Given the description of an element on the screen output the (x, y) to click on. 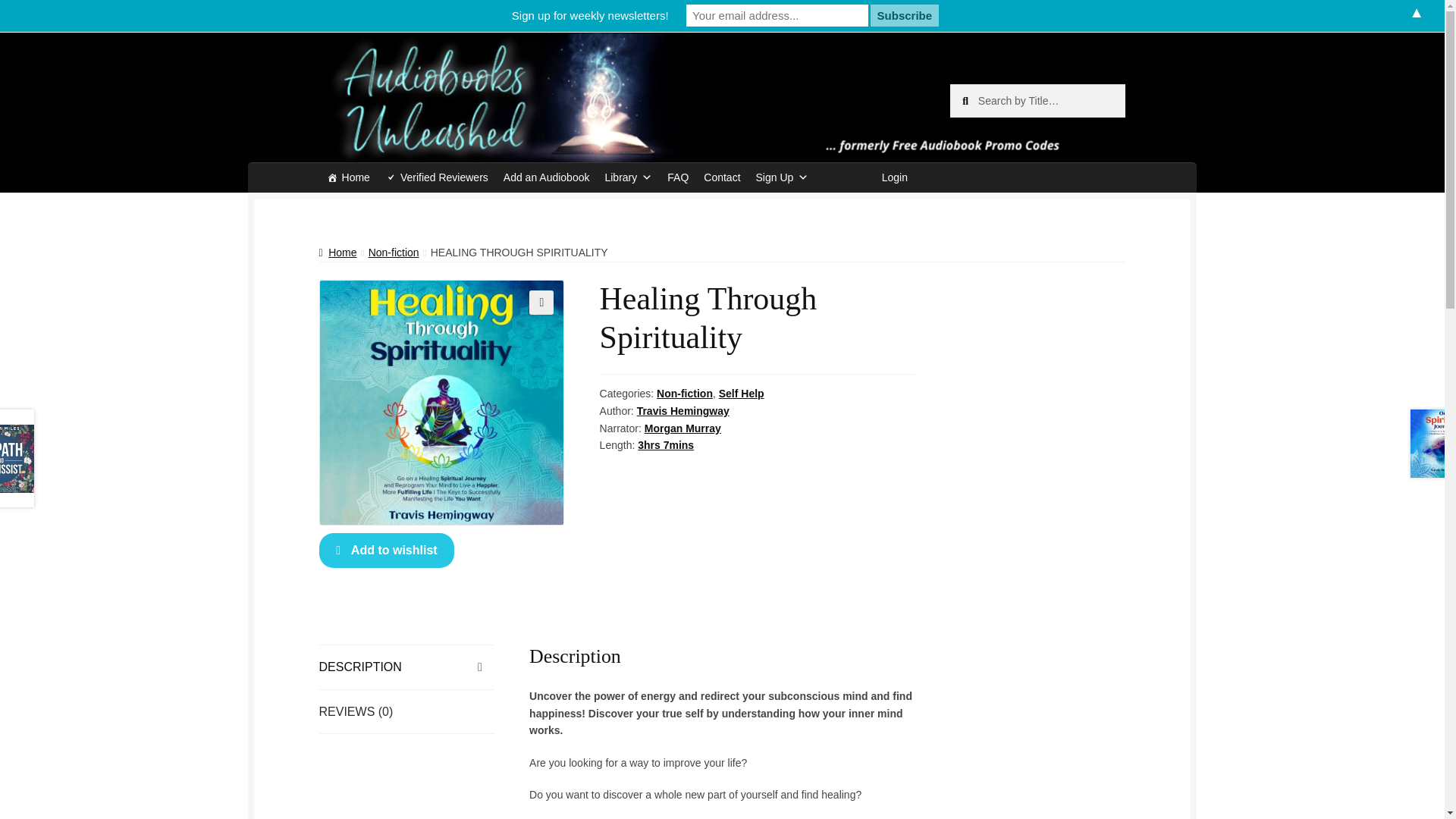
Library (627, 177)
Sign Up (782, 177)
Add to wishlist (386, 550)
Home (347, 177)
Add an Audiobook (546, 177)
Home (337, 252)
Login (895, 177)
Subscribe (904, 15)
Contact (721, 177)
